Given the description of an element on the screen output the (x, y) to click on. 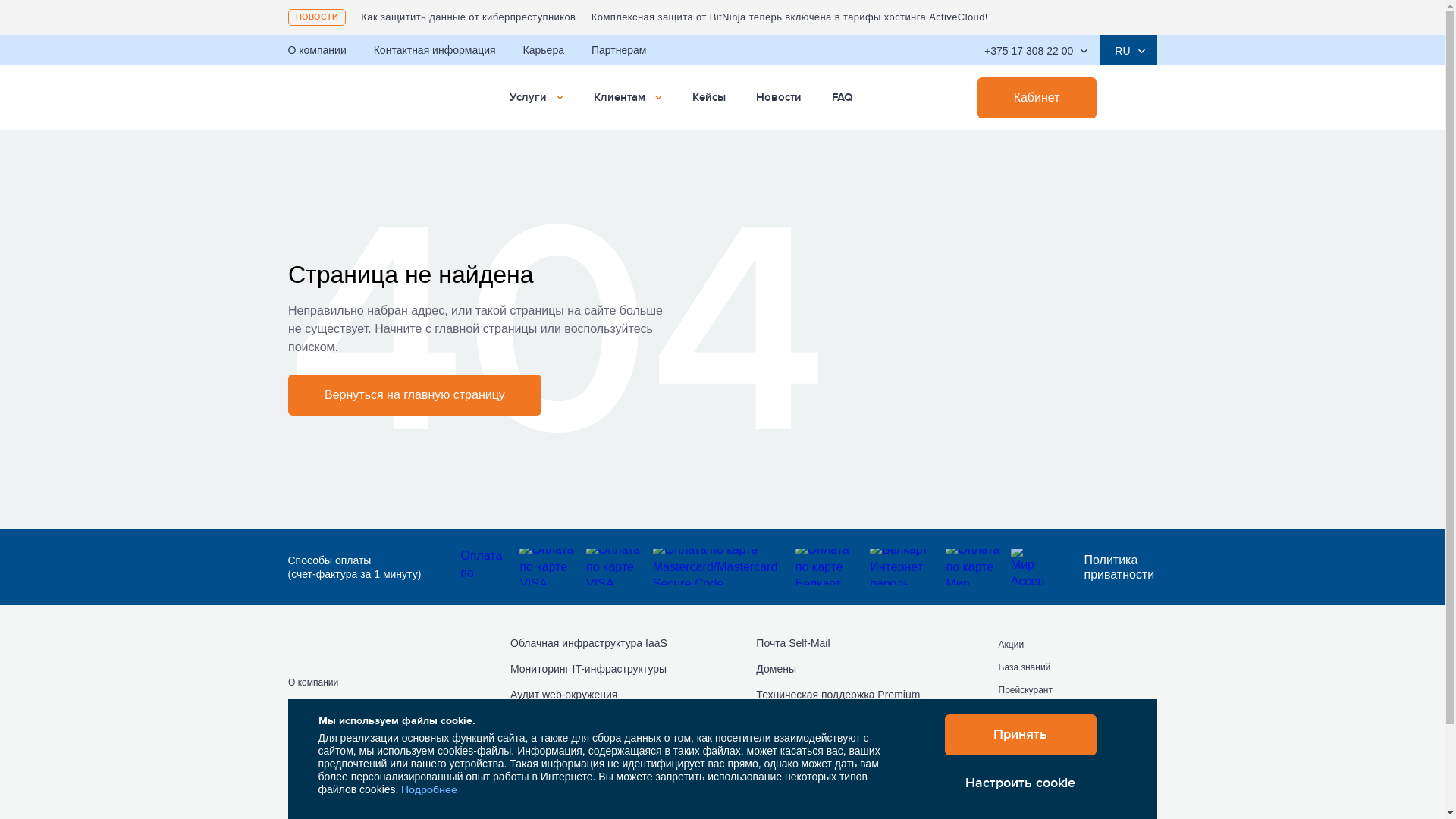
FAQ Element type: text (840, 97)
